Given the description of an element on the screen output the (x, y) to click on. 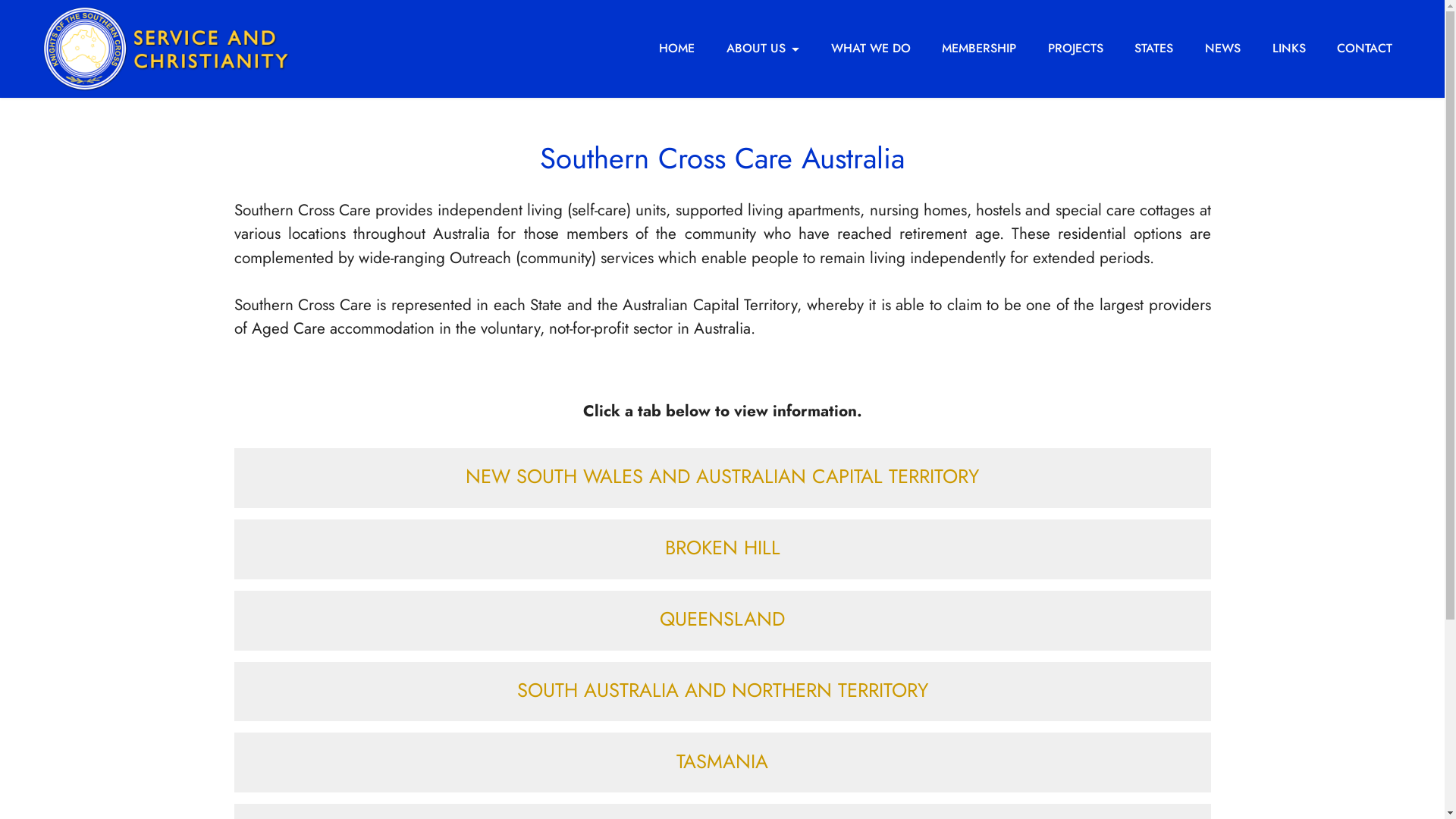
SOUTH AUSTRALIA AND NORTHERN TERRITORY Element type: text (721, 691)
PROJECTS Element type: text (1075, 48)
NEW SOUTH WALES AND AUSTRALIAN CAPITAL TERRITORY Element type: text (721, 477)
QUEENSLAND Element type: text (721, 619)
STATES Element type: text (1154, 48)
HOME Element type: text (677, 48)
ABOUT US Element type: text (762, 48)
NEWS Element type: text (1222, 48)
MEMBERSHIP Element type: text (978, 48)
BROKEN HILL Element type: text (721, 548)
CONTACT Element type: text (1364, 48)
WHAT WE DO Element type: text (870, 48)
LINKS Element type: text (1288, 48)
TASMANIA Element type: text (721, 761)
